Given the description of an element on the screen output the (x, y) to click on. 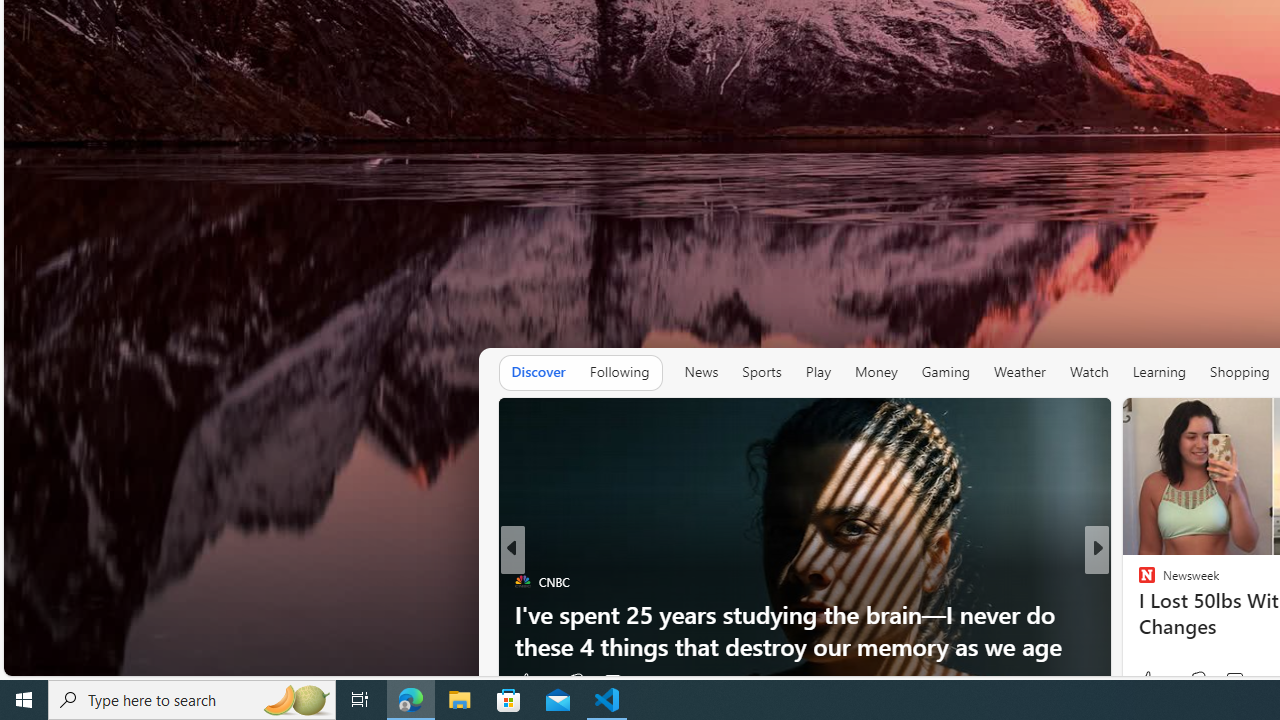
78 Like (1149, 681)
View comments 35 Comment (1234, 681)
View comments 173 Comment (1234, 679)
Body Network (1138, 581)
77 Like (1149, 681)
5k Like (1154, 680)
138 Like (1151, 681)
